Given the description of an element on the screen output the (x, y) to click on. 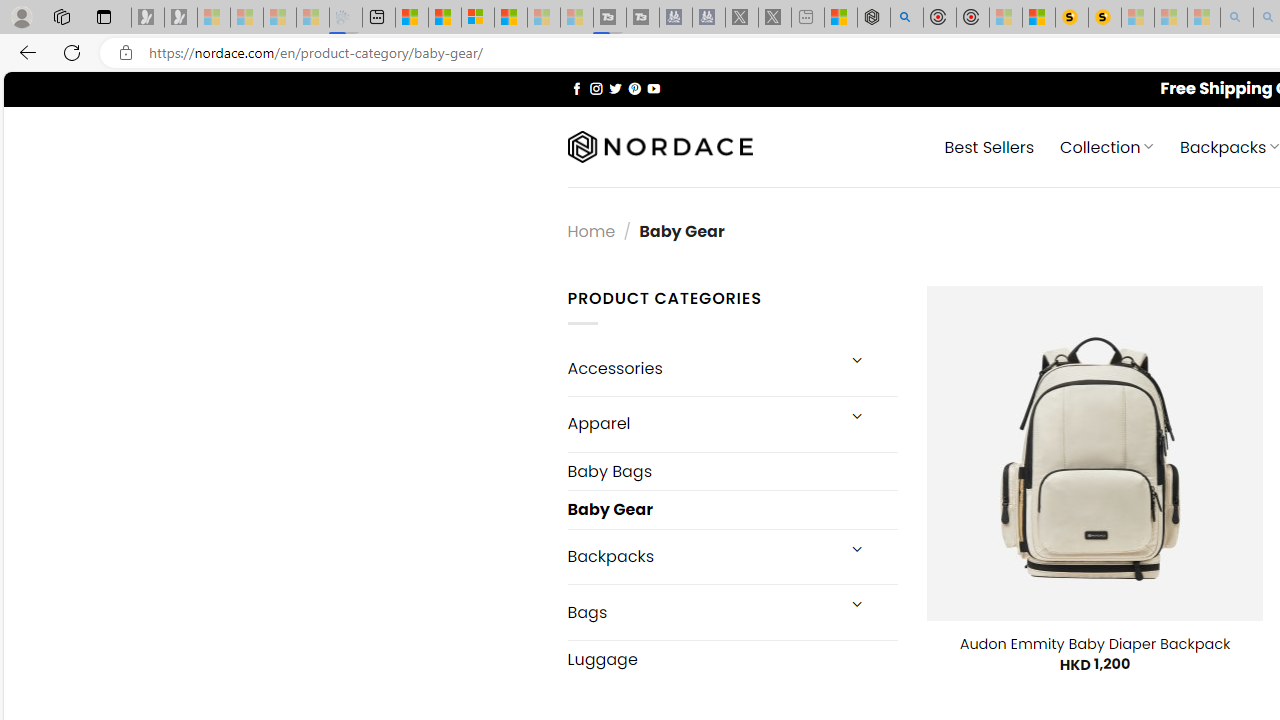
Luggage (732, 659)
Follow on Instagram (596, 88)
Baby Gear (732, 510)
Follow on Pinterest (634, 88)
Newsletter Sign Up - Sleeping (181, 17)
 Best Sellers (989, 146)
